Given the description of an element on the screen output the (x, y) to click on. 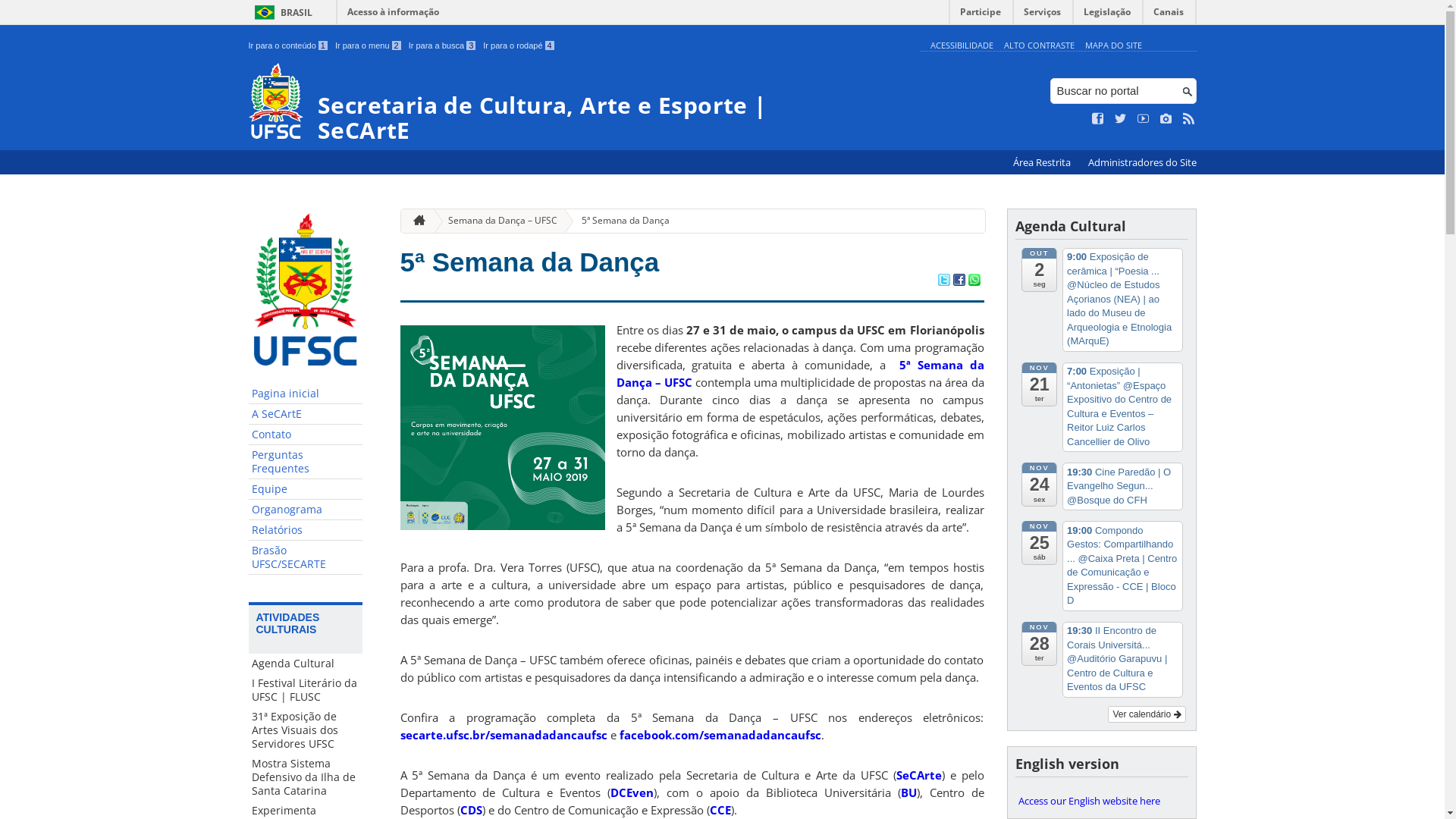
Contato Element type: text (305, 434)
Siga no Twitter Element type: hover (1120, 118)
Mostra Sistema Defensivo da Ilha de Santa Catarina Element type: text (305, 776)
Compartilhar no WhatsApp Element type: hover (973, 280)
facebook.com/semanadadancaufsc Element type: text (719, 734)
BU Element type: text (908, 792)
Canais Element type: text (1169, 15)
Participe Element type: text (980, 15)
CDS Element type: text (470, 809)
SeCArte Element type: text (918, 774)
Agenda Cultural Element type: text (305, 663)
Ir para a busca 3 Element type: text (442, 45)
Ir para o menu 2 Element type: text (368, 45)
A SeCArtE Element type: text (305, 414)
CCE Element type: text (720, 809)
Equipe Element type: text (305, 489)
Veja no Instagram Element type: hover (1166, 118)
Organograma Element type: text (305, 509)
DCEven Element type: text (631, 792)
secarte.ufsc.br/semanadadancaufsc Element type: text (503, 734)
NOV
21
ter Element type: text (1039, 384)
Access our English website here Element type: text (1100, 800)
Secretaria de Cultura, Arte e Esporte | SeCArtE Element type: text (580, 102)
BRASIL Element type: text (280, 12)
ACESSIBILIDADE Element type: text (960, 44)
Curta no Facebook Element type: hover (1098, 118)
Perguntas Frequentes Element type: text (305, 462)
OUT
2
seg Element type: text (1039, 269)
Compartilhar no Twitter Element type: hover (943, 280)
Pagina inicial Element type: text (305, 393)
Administradores do Site Element type: text (1141, 162)
Compartilhar no Facebook Element type: hover (958, 280)
ALTO CONTRASTE Element type: text (1039, 44)
NOV
24
sex Element type: text (1039, 484)
NOV
28
ter Element type: text (1039, 643)
MAPA DO SITE Element type: text (1112, 44)
